Given the description of an element on the screen output the (x, y) to click on. 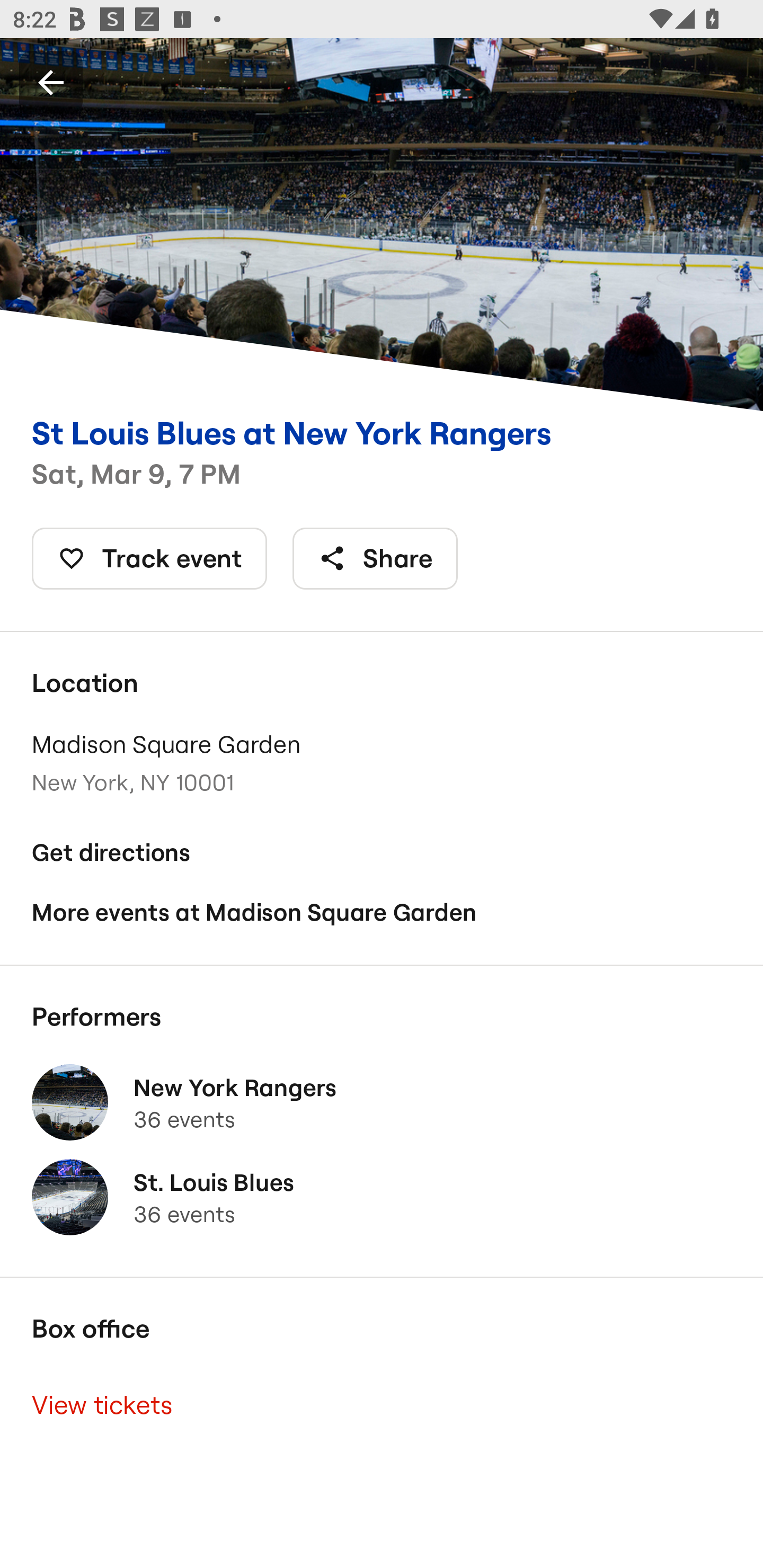
Back (50, 81)
Track event (149, 557)
Share (374, 557)
Get directions (381, 852)
More events at Madison Square Garden (381, 912)
New York Rangers 36 events (381, 1102)
St. Louis Blues 36 events (381, 1196)
View tickets (381, 1405)
